Given the description of an element on the screen output the (x, y) to click on. 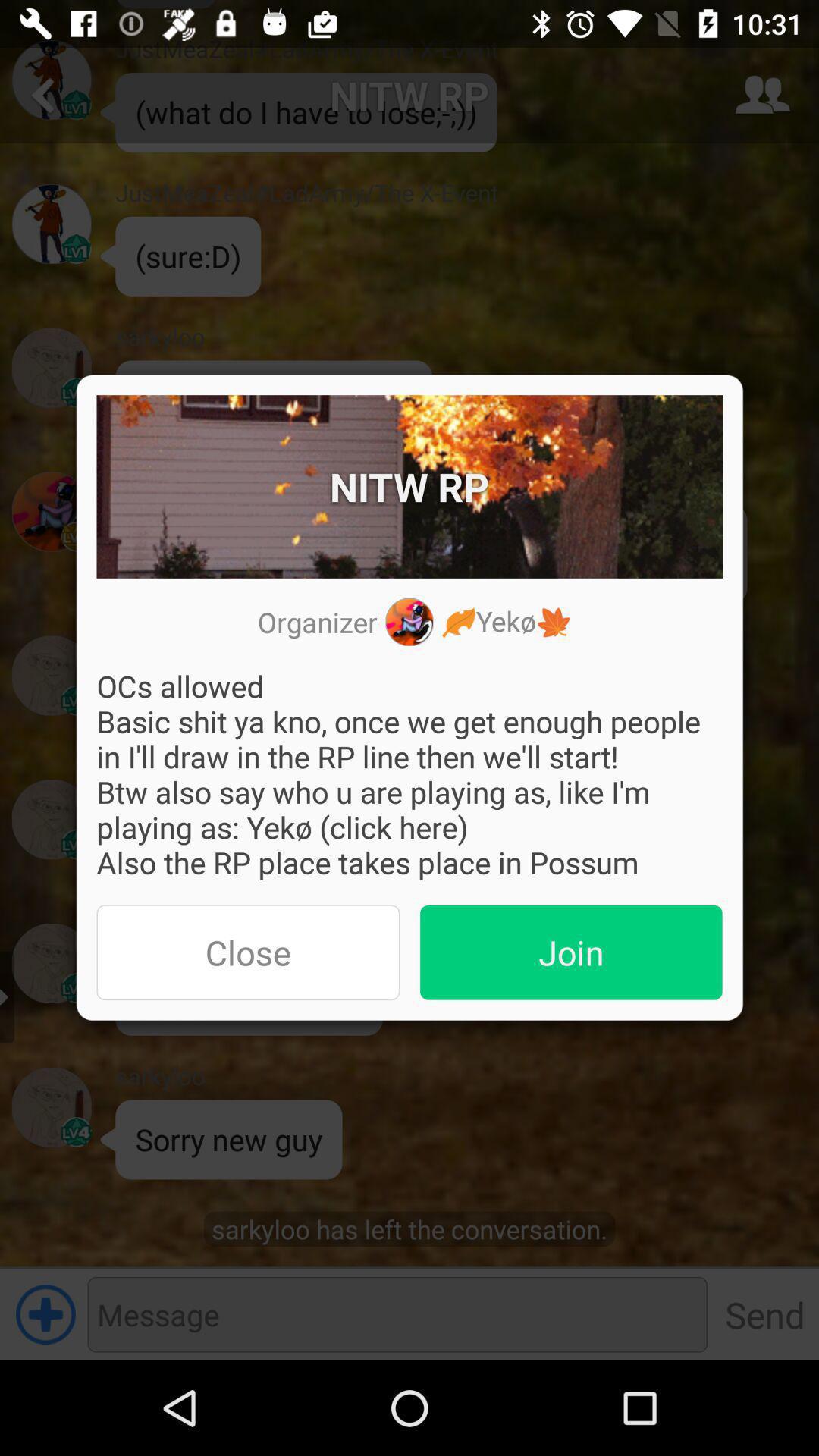
open icon to the left of the join button (247, 952)
